Given the description of an element on the screen output the (x, y) to click on. 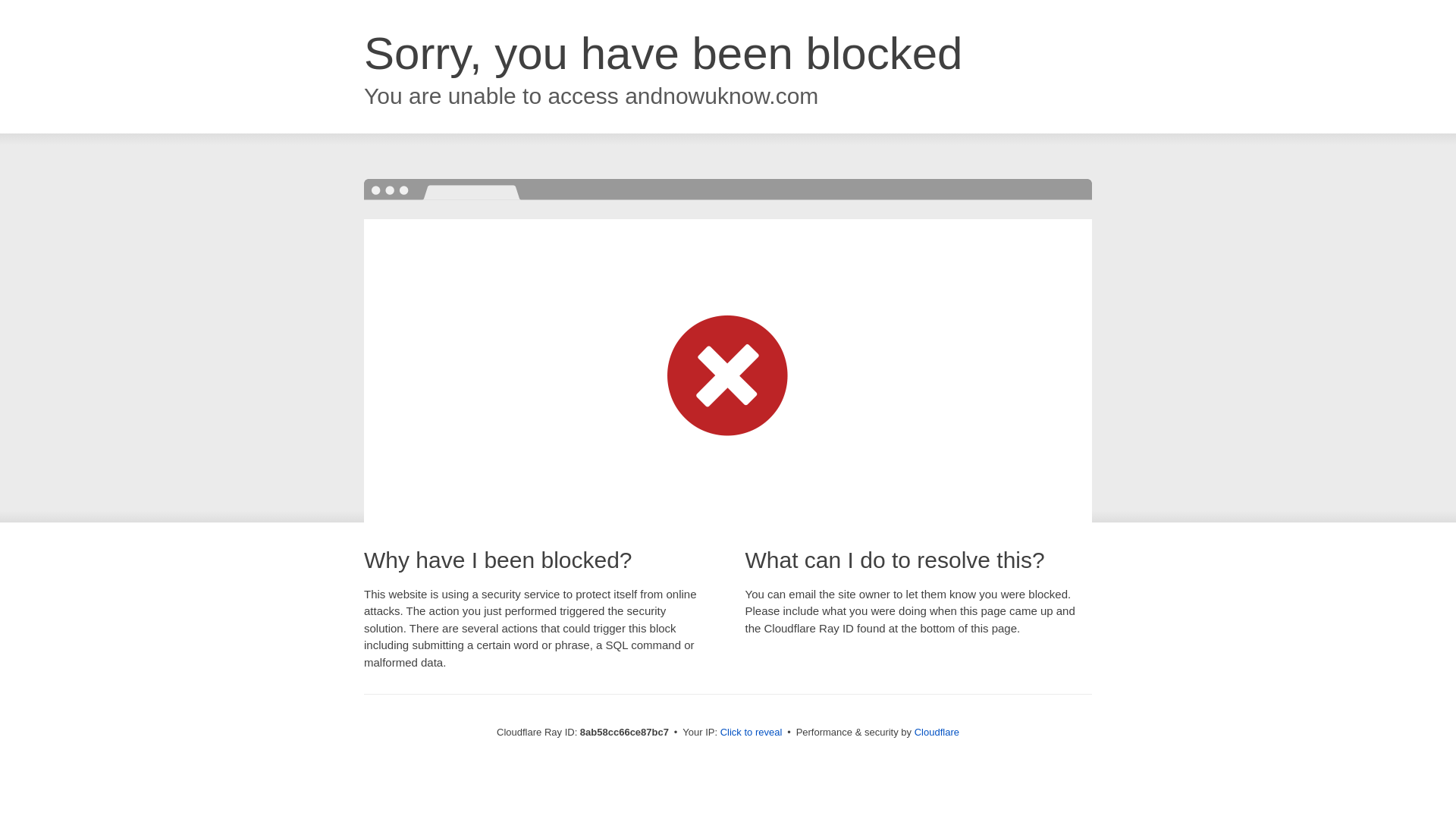
Click to reveal (751, 732)
Cloudflare (936, 731)
